Given the description of an element on the screen output the (x, y) to click on. 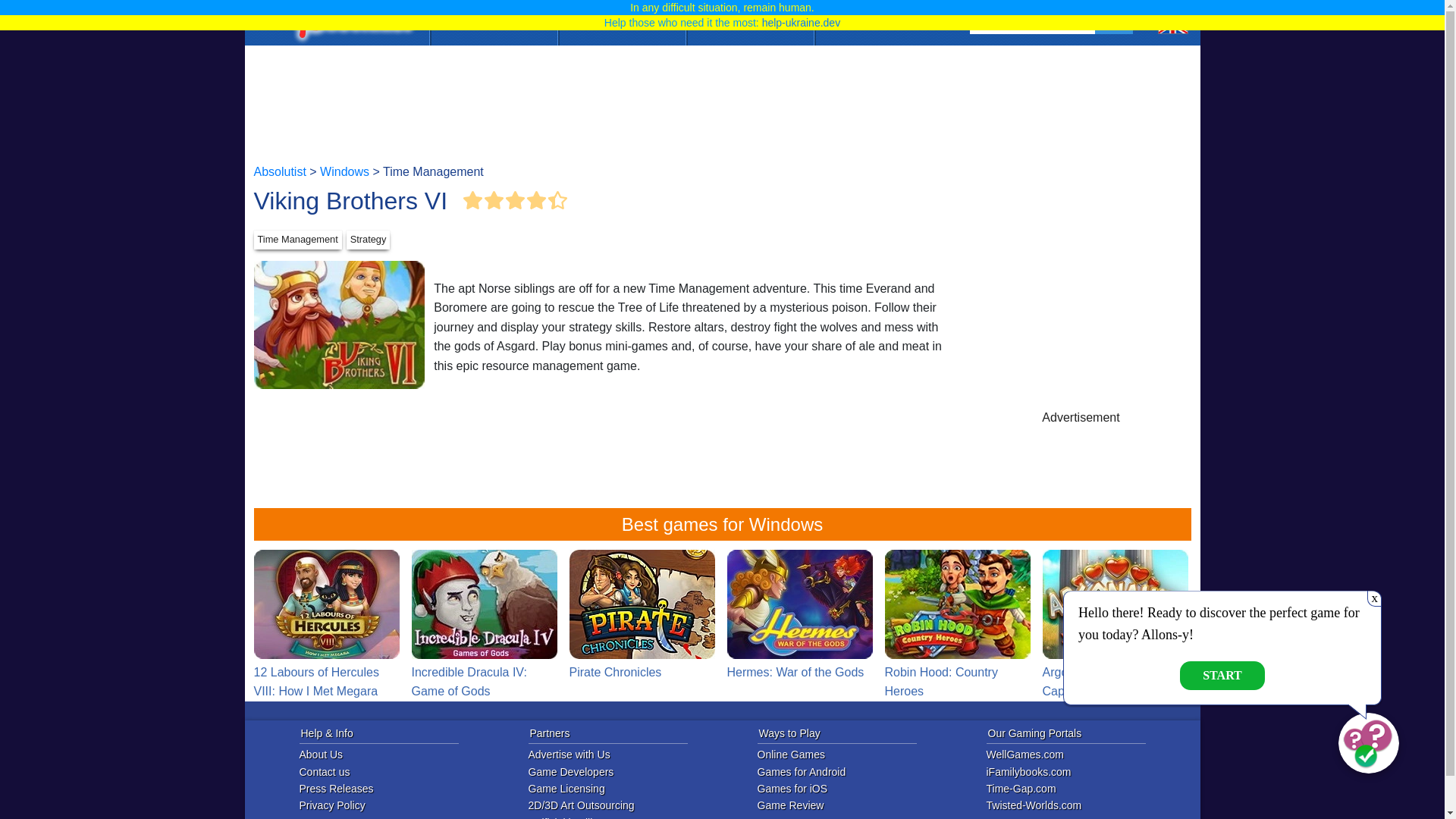
Time Management (296, 239)
iOS (621, 20)
12 Labours of Hercules VIII: How I Met Megara (325, 625)
Absolutist (279, 171)
Robin Hood: Country Heroes (956, 625)
Pirate Chronicles (641, 604)
Argonauts Agency: Captive of Circe (1115, 625)
Windows (344, 171)
Hermes: War of the Gods (799, 604)
Incredible Dracula IV: Game of Gods (483, 604)
12 Labours of Hercules VIII: How I Met Megara (325, 625)
Online (493, 20)
Absolutist (350, 22)
Strategy (368, 239)
Pirate Chronicles (641, 615)
